Given the description of an element on the screen output the (x, y) to click on. 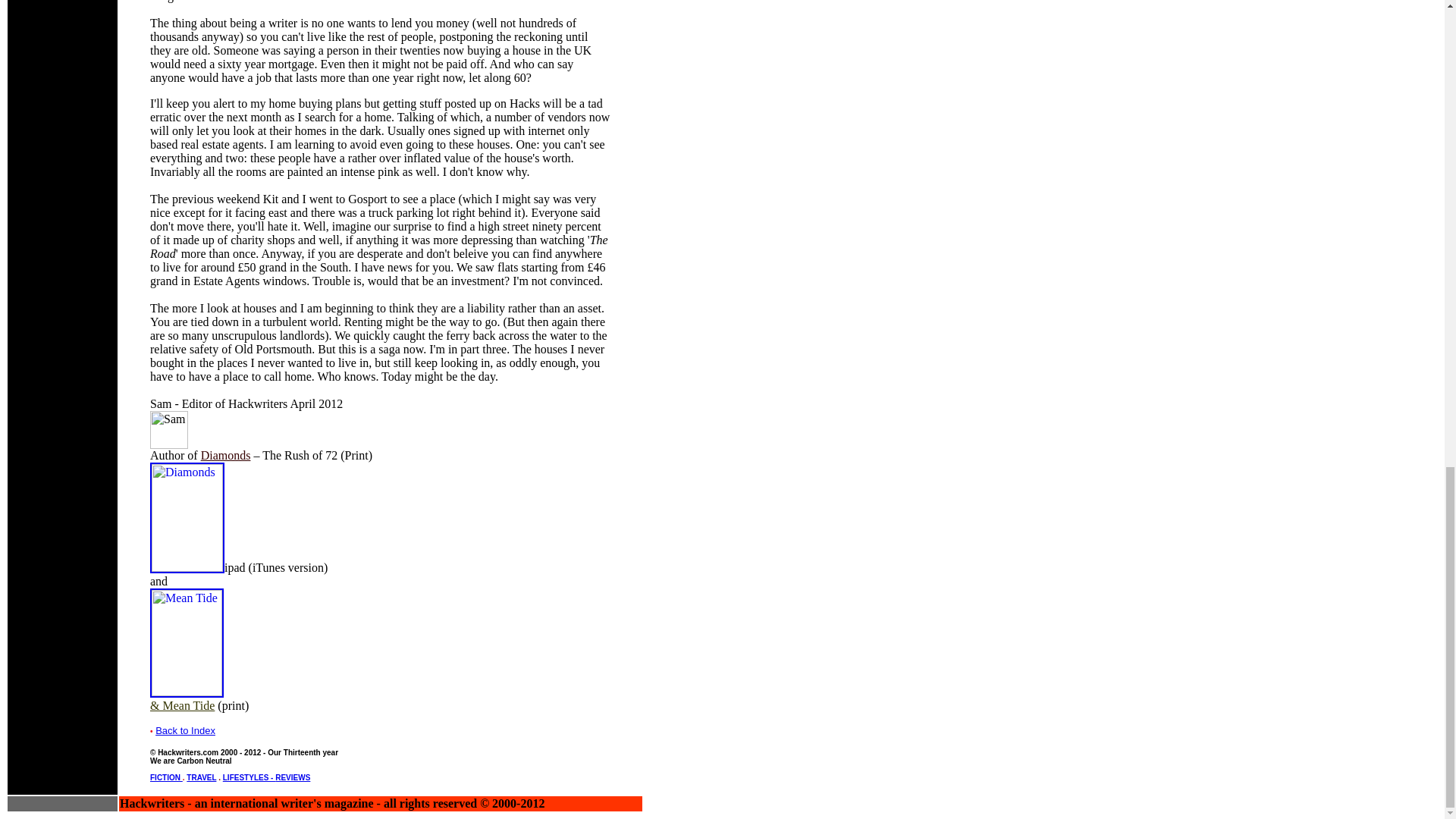
FICTION (166, 777)
Diamonds (225, 454)
TRAVEL (200, 777)
REVIEWS (292, 777)
Back to Index (185, 730)
LIFESTYLES - (248, 777)
